Given the description of an element on the screen output the (x, y) to click on. 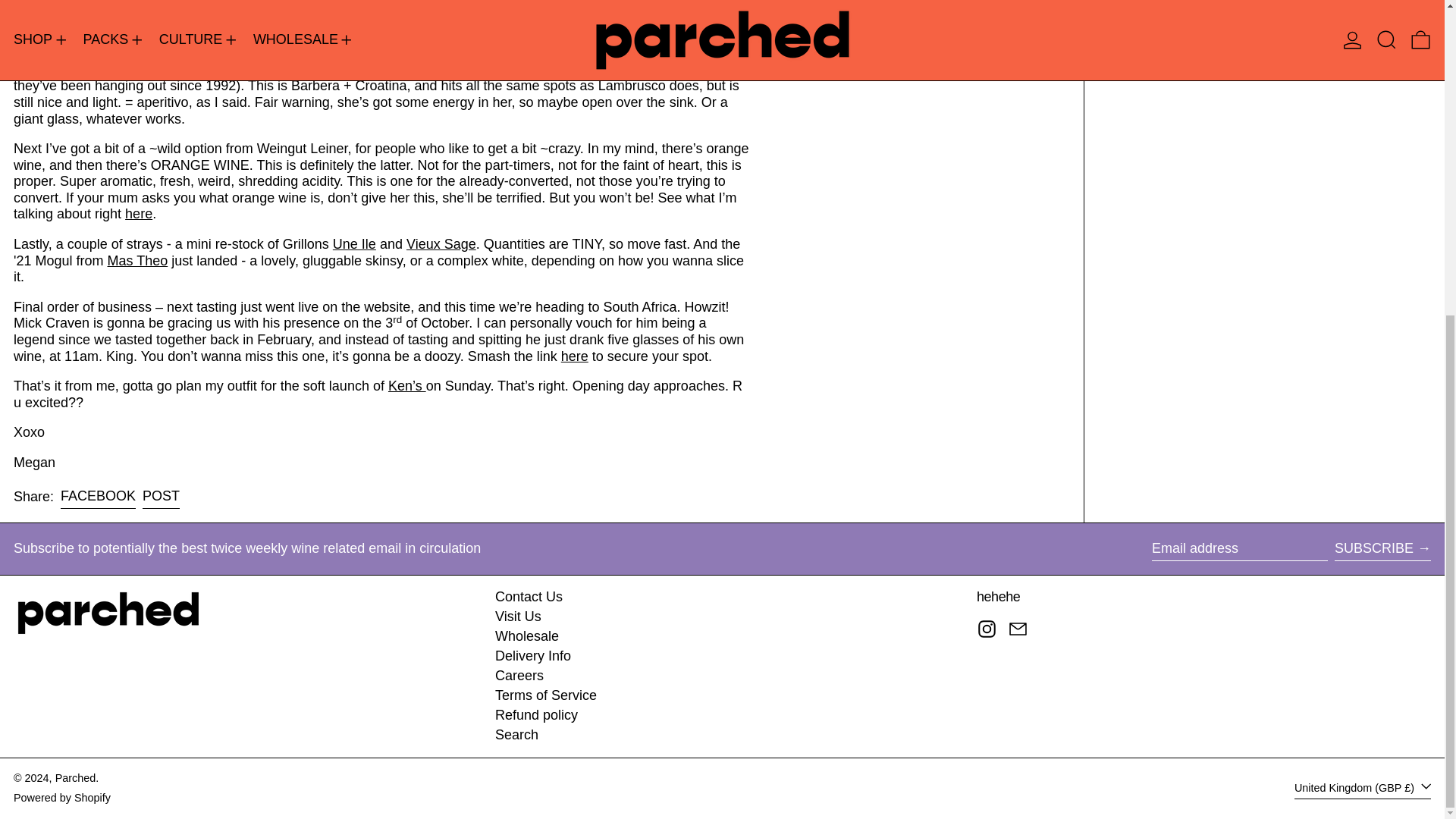
lovely fresh Spanish white (202, 7)
